Given the description of an element on the screen output the (x, y) to click on. 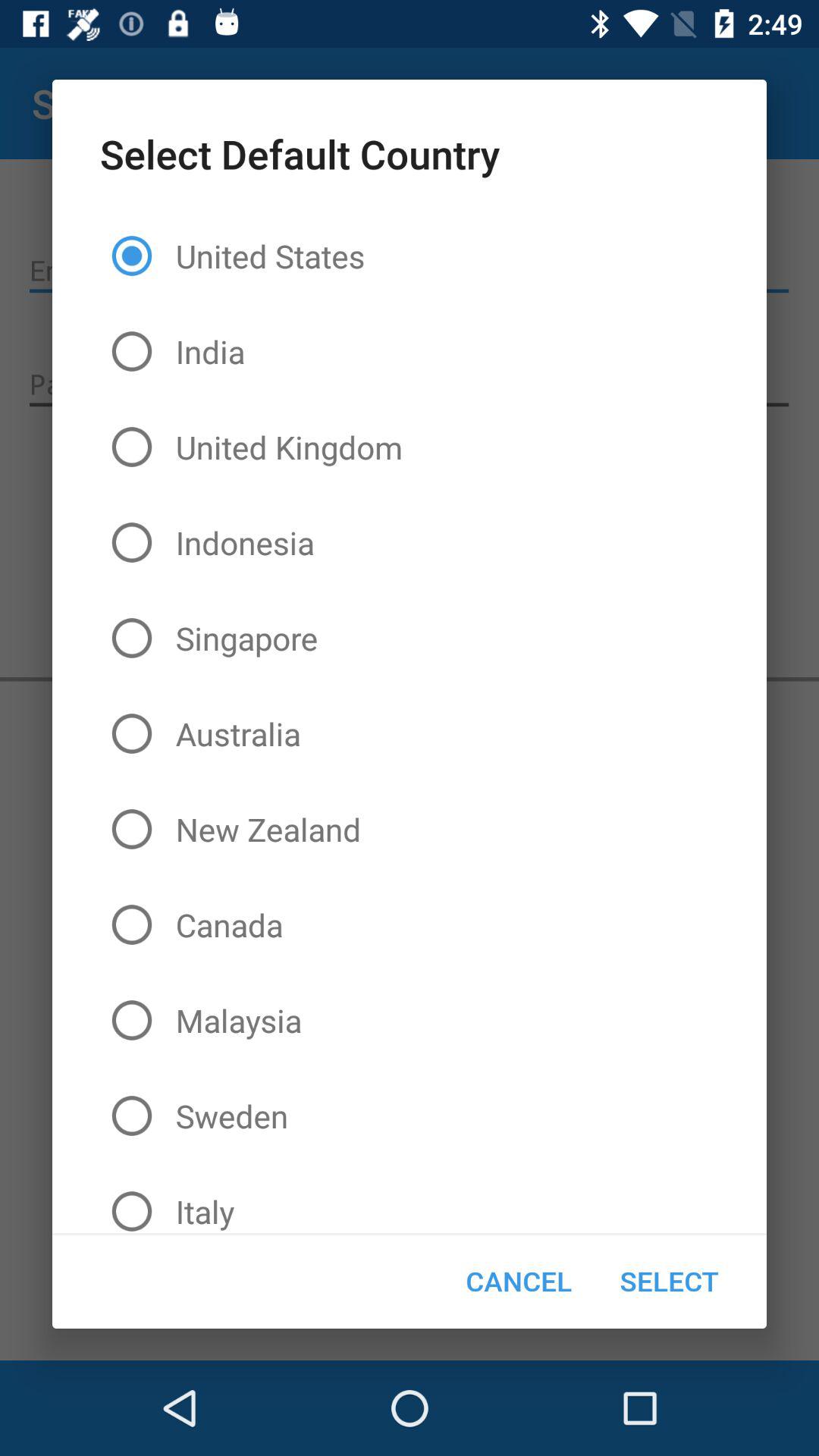
flip until cancel icon (518, 1280)
